Given the description of an element on the screen output the (x, y) to click on. 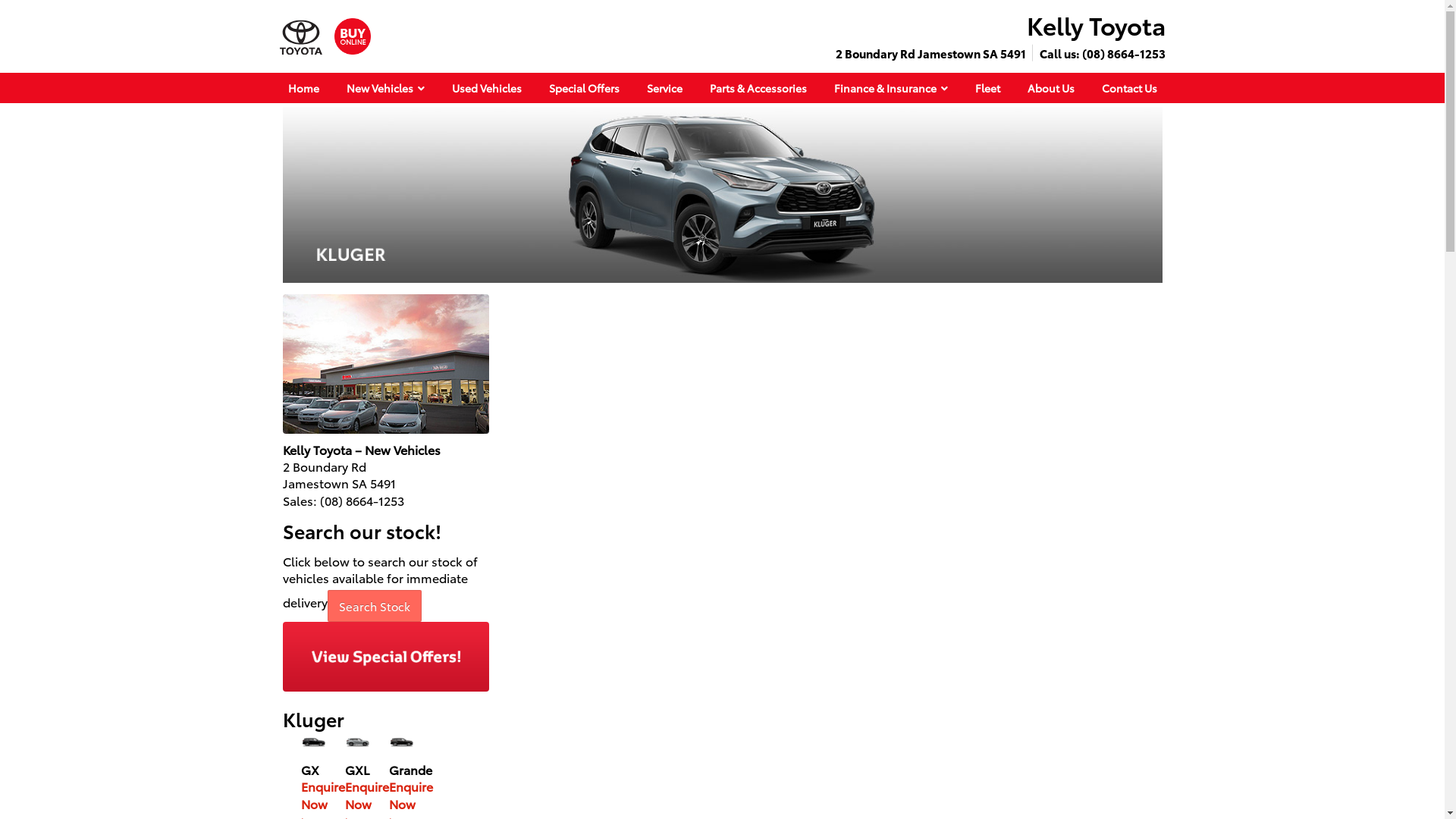
(08) 8664-1253 Element type: text (1122, 52)
New Vehicles Element type: text (384, 87)
Contact Us Element type: text (1128, 87)
About Us Element type: text (1050, 87)
Search Stock Element type: text (374, 601)
button-special-offers Element type: hover (385, 656)
(08) 8664-1253 Element type: text (362, 499)
Used Vehicles Element type: text (486, 87)
Home Element type: text (303, 87)
Finance & Insurance Element type: text (890, 87)
Fleet Element type: text (987, 87)
Service Element type: text (663, 87)
Special Offers Element type: text (584, 87)
Parts & Accessories Element type: text (758, 87)
